Given the description of an element on the screen output the (x, y) to click on. 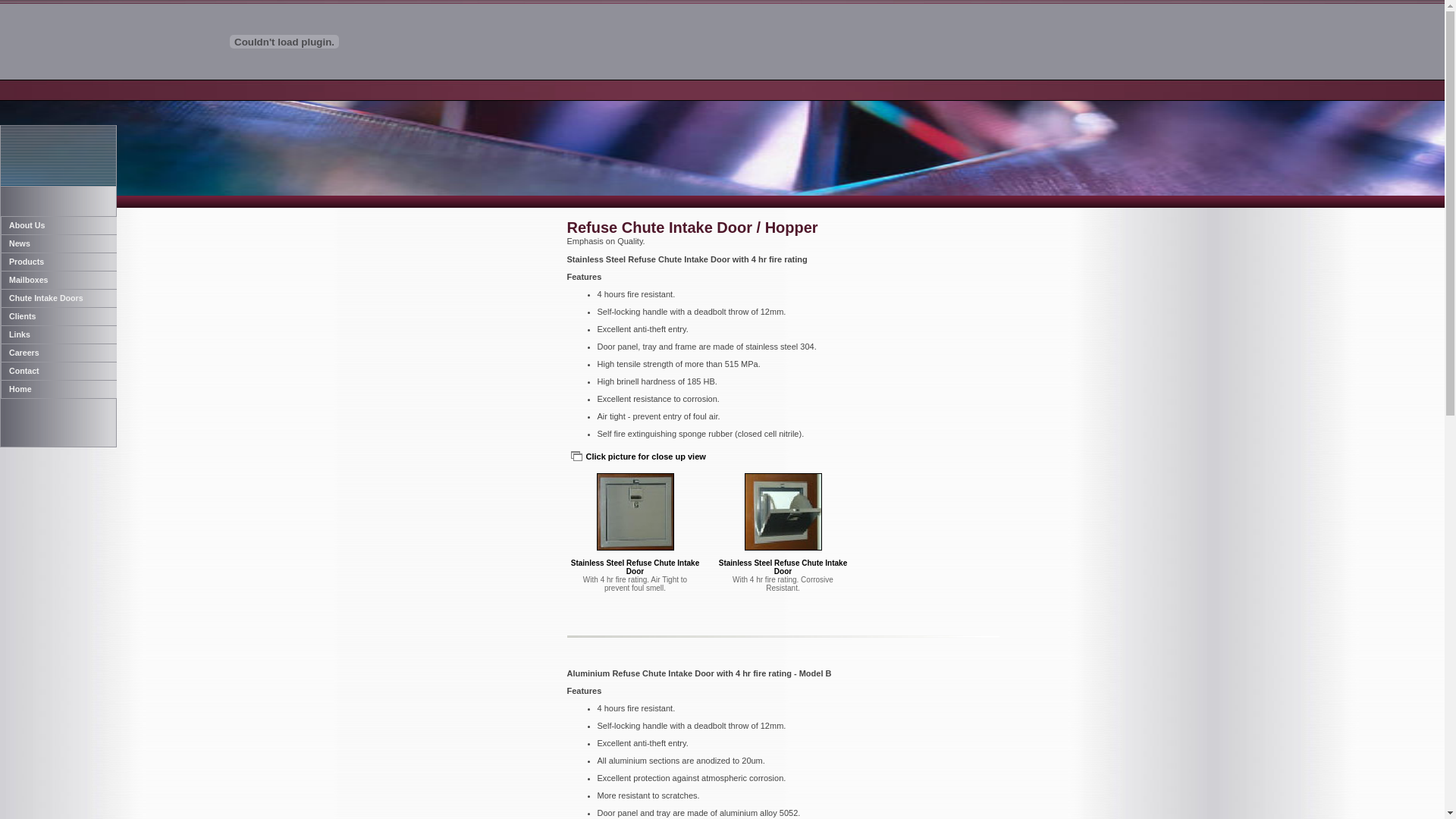
News Element type: text (58, 243)
Contact Element type: text (58, 370)
Links Element type: text (58, 334)
Home Element type: text (58, 388)
Chute Intake Doors Element type: text (58, 297)
Careers Element type: text (58, 352)
Mailboxes Element type: text (58, 279)
About Us Element type: text (58, 225)
Clients Element type: text (58, 316)
Products Element type: text (58, 261)
